Given the description of an element on the screen output the (x, y) to click on. 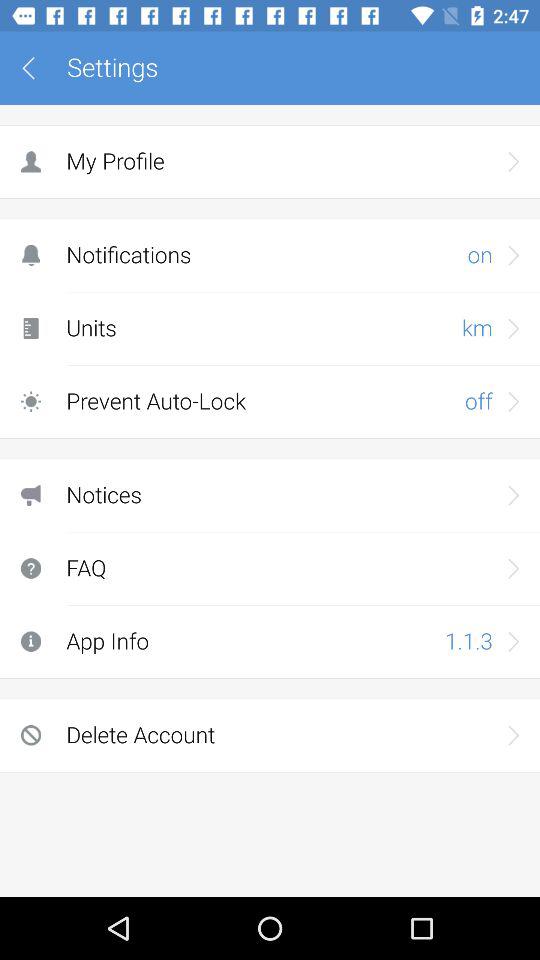
turn off app to the left of settings (35, 67)
